Given the description of an element on the screen output the (x, y) to click on. 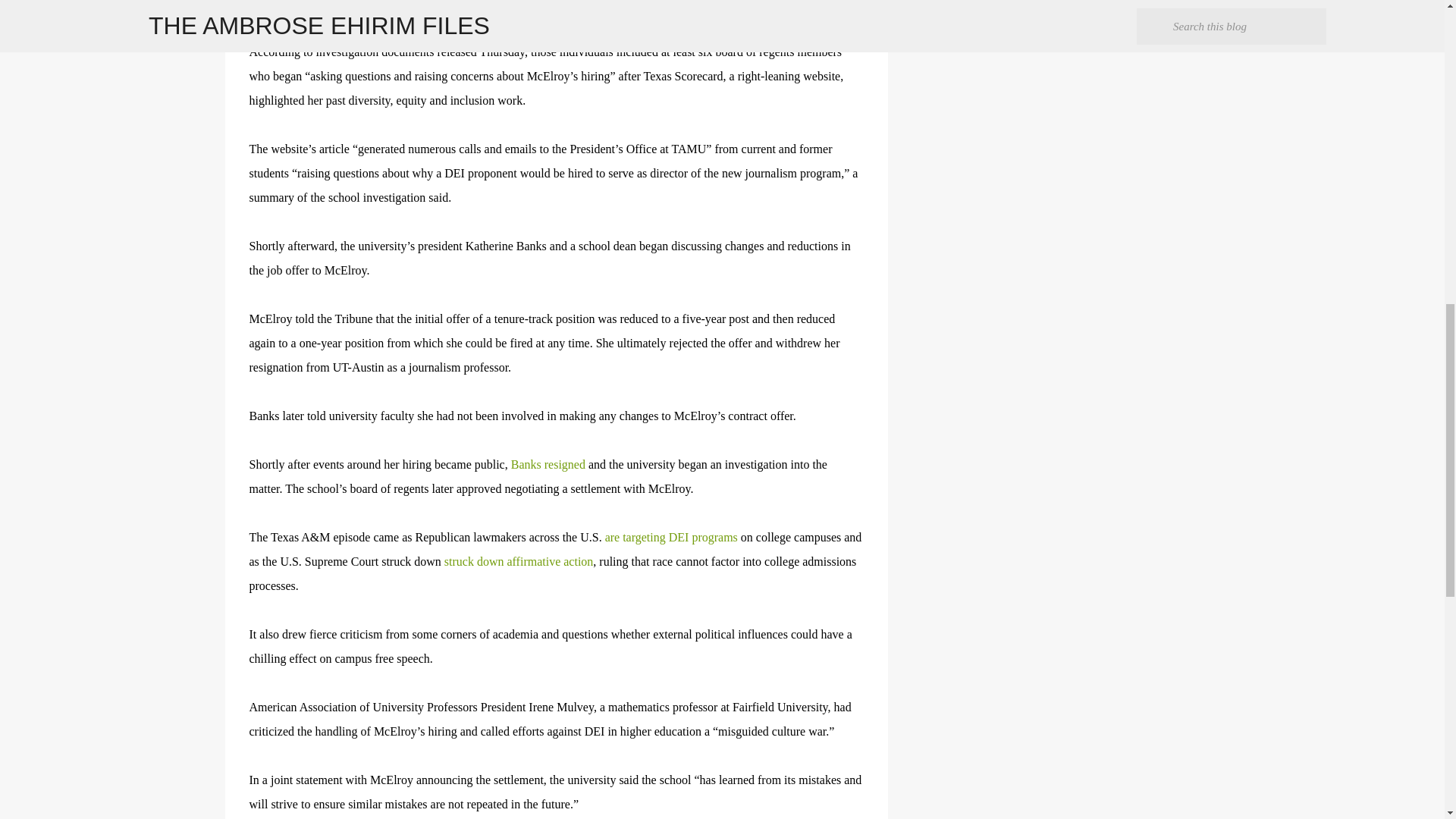
struck down affirmative action (519, 561)
Banks resigned (548, 463)
are targeting DEI programs (671, 536)
